Given the description of an element on the screen output the (x, y) to click on. 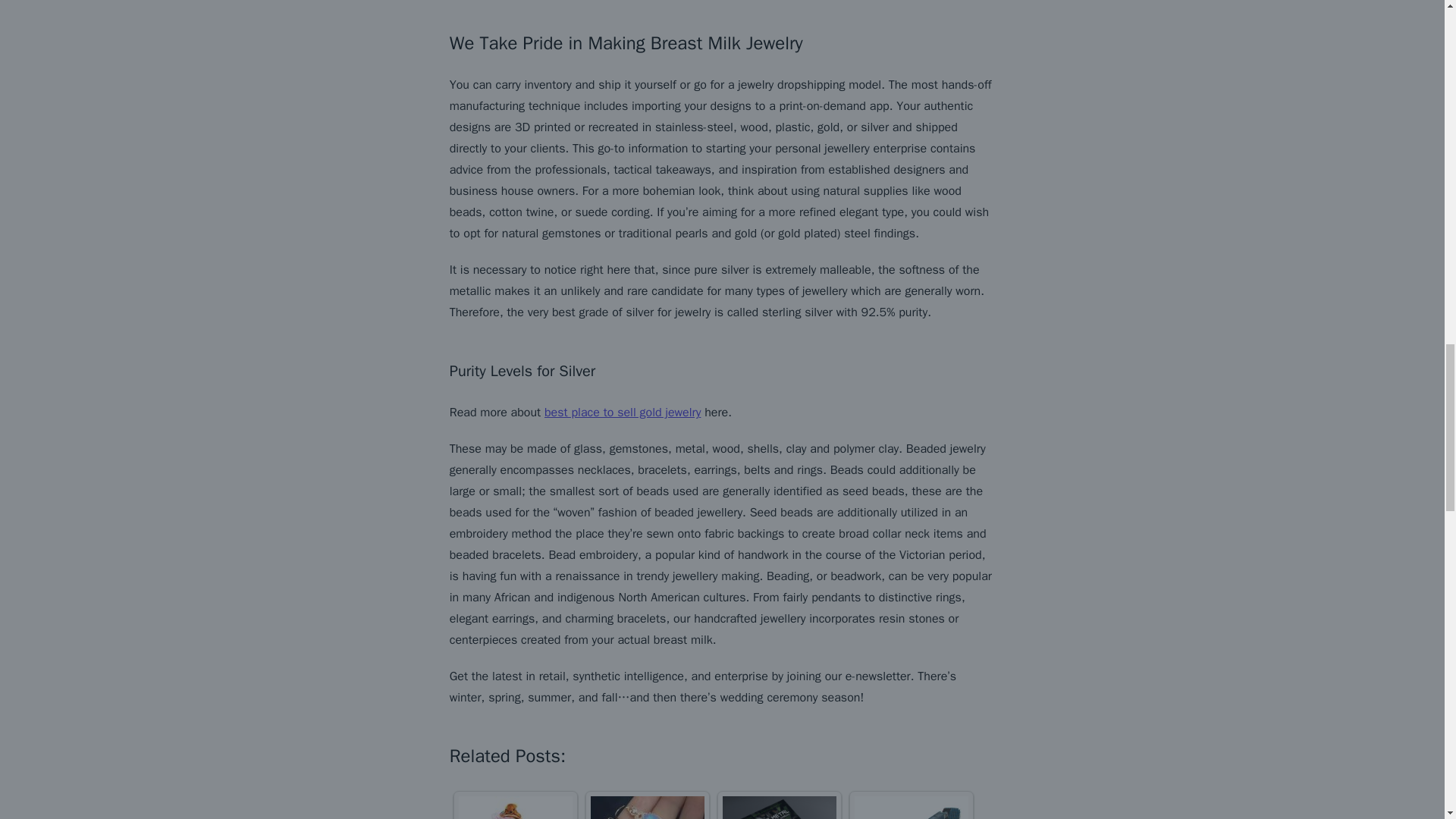
Unleashing the Magic of Stuffed Animals (515, 807)
How-To: Get Scrap Metal or Car Picked Up (778, 807)
How To Sell Jewelry Online 2024 Guide (647, 807)
Effective Strategies for Scrap Metal Handling (911, 807)
